Given the description of an element on the screen output the (x, y) to click on. 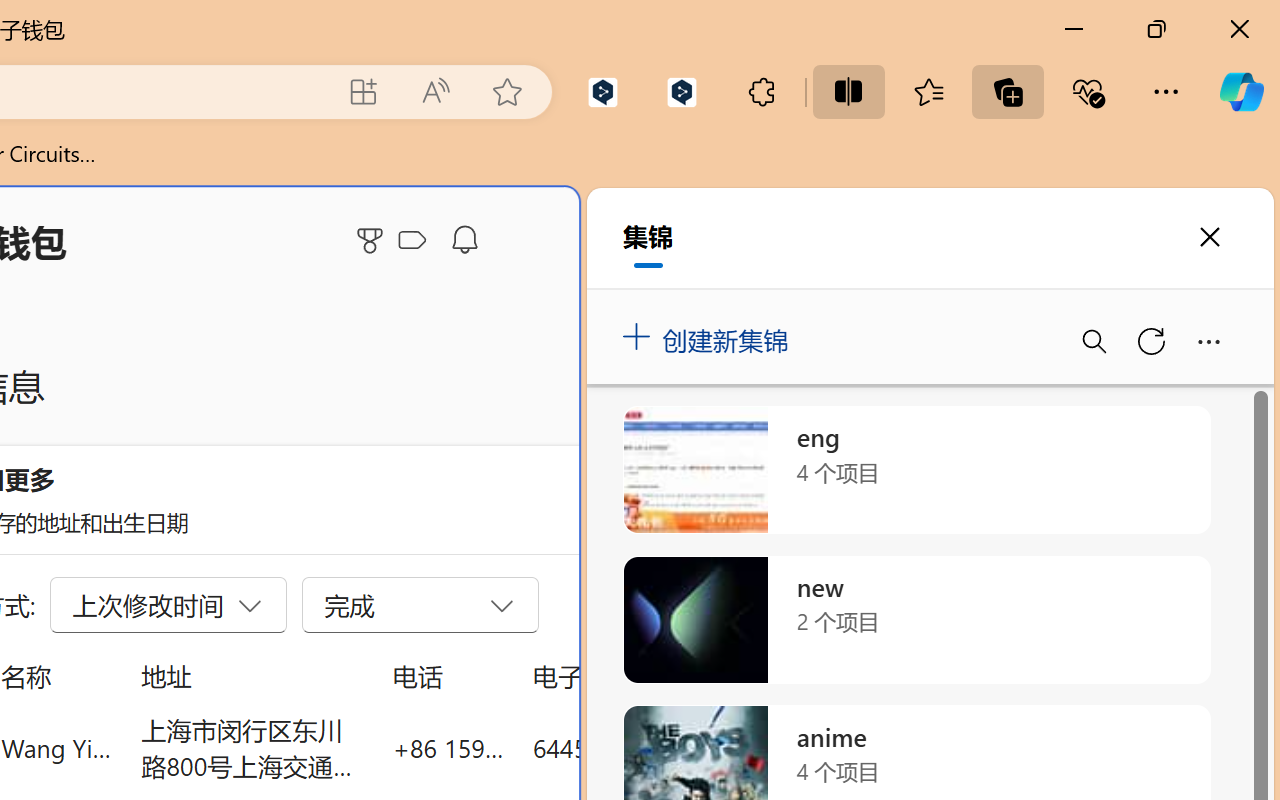
644553698@qq.com (644, 747)
